Given the description of an element on the screen output the (x, y) to click on. 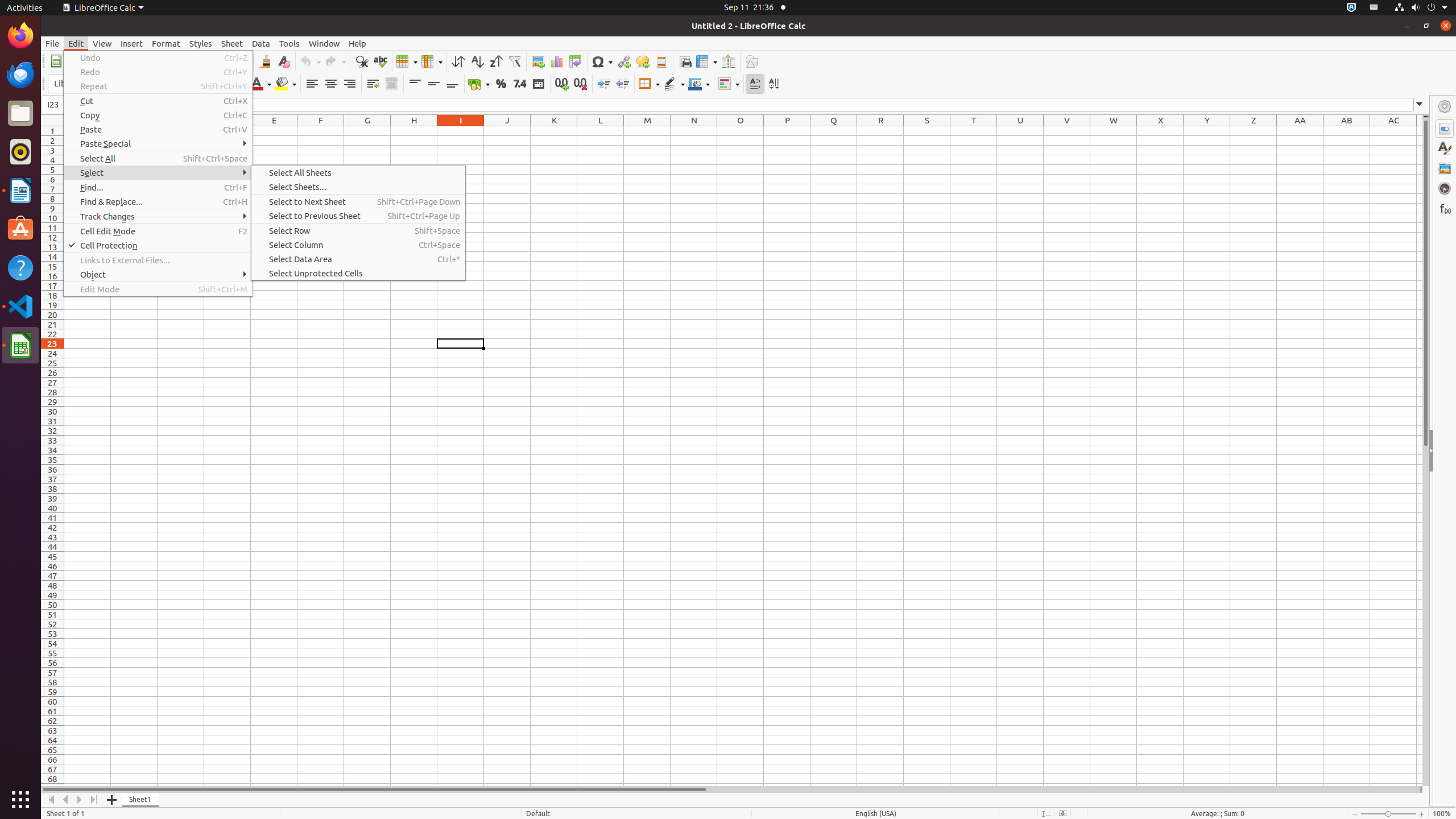
Undo Element type: push-button (309, 61)
View Element type: menu (102, 43)
Move Right Element type: push-button (79, 799)
AutoFilter Element type: push-button (514, 61)
